Given the description of an element on the screen output the (x, y) to click on. 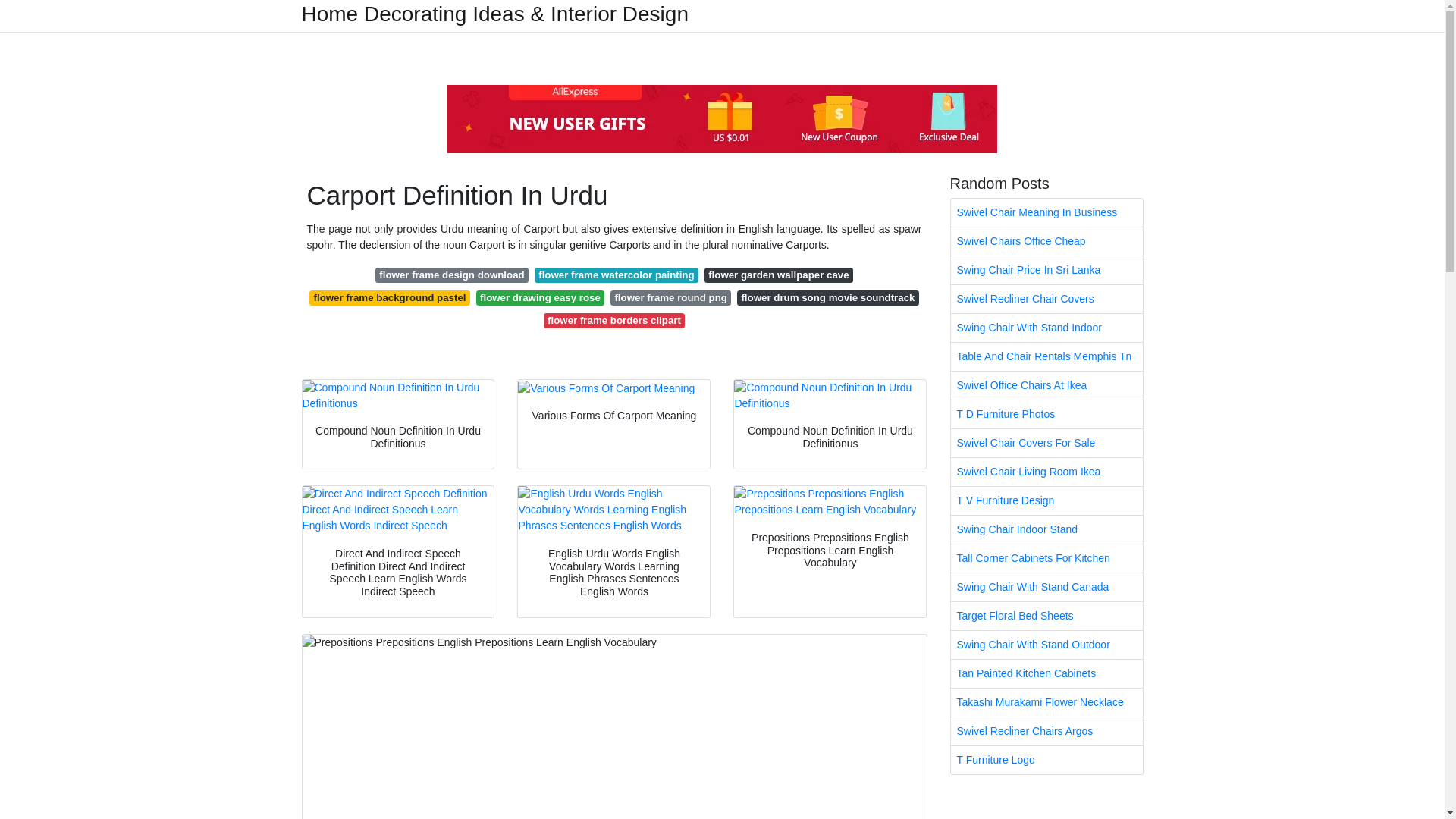
Swivel Chair Covers For Sale (1046, 443)
Swing Chair Price In Sri Lanka (1046, 270)
flower frame design download (451, 274)
flower frame background pastel (389, 297)
Table And Chair Rentals Memphis Tn (1046, 357)
flower frame borders clipart (614, 320)
flower drum song movie soundtrack (827, 297)
flower frame round png (670, 297)
T D Furniture Photos (1046, 414)
Swivel Chair Meaning In Business (1046, 212)
